Given the description of an element on the screen output the (x, y) to click on. 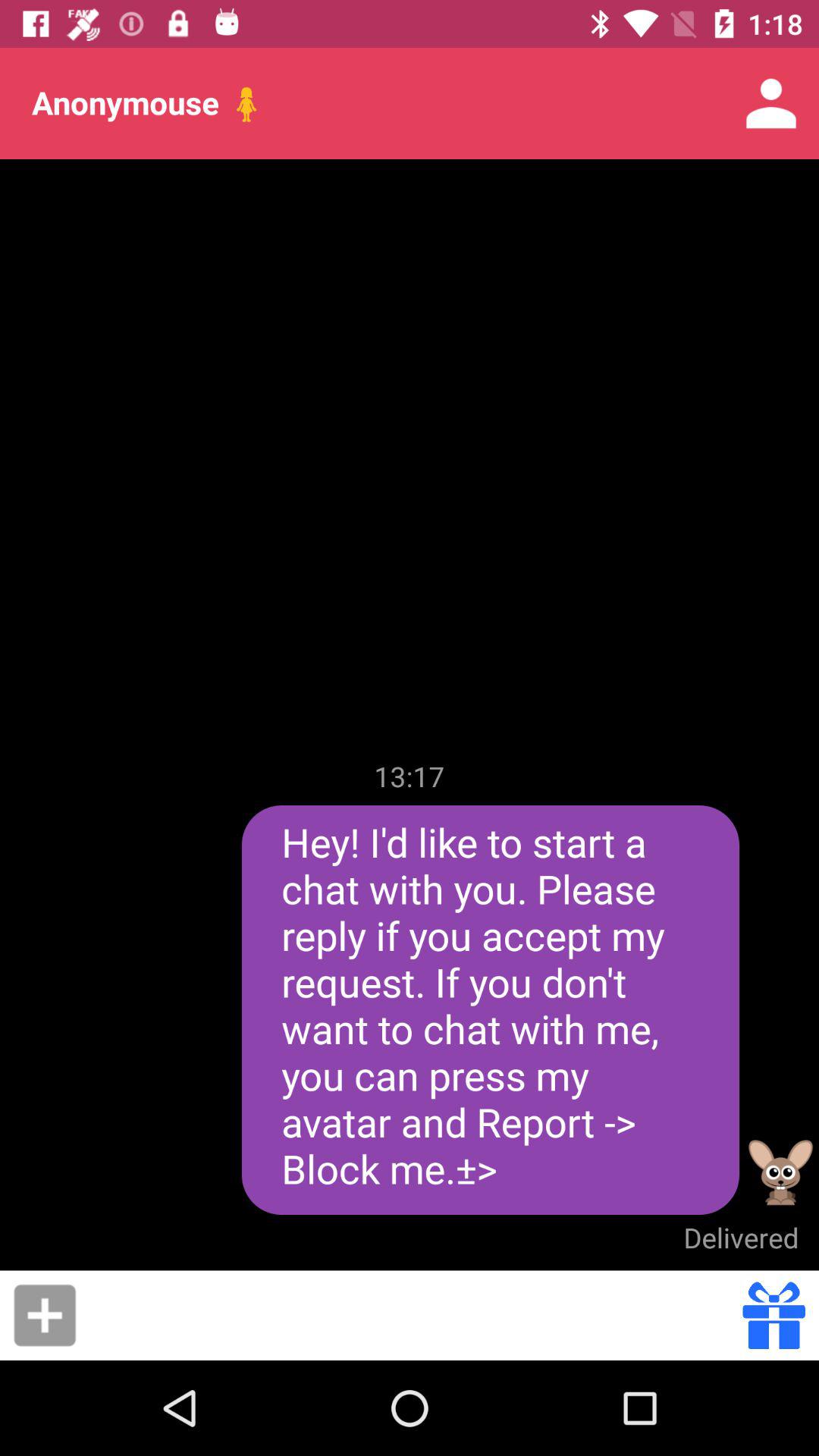
click the item below the 13:17 (490, 1009)
